Given the description of an element on the screen output the (x, y) to click on. 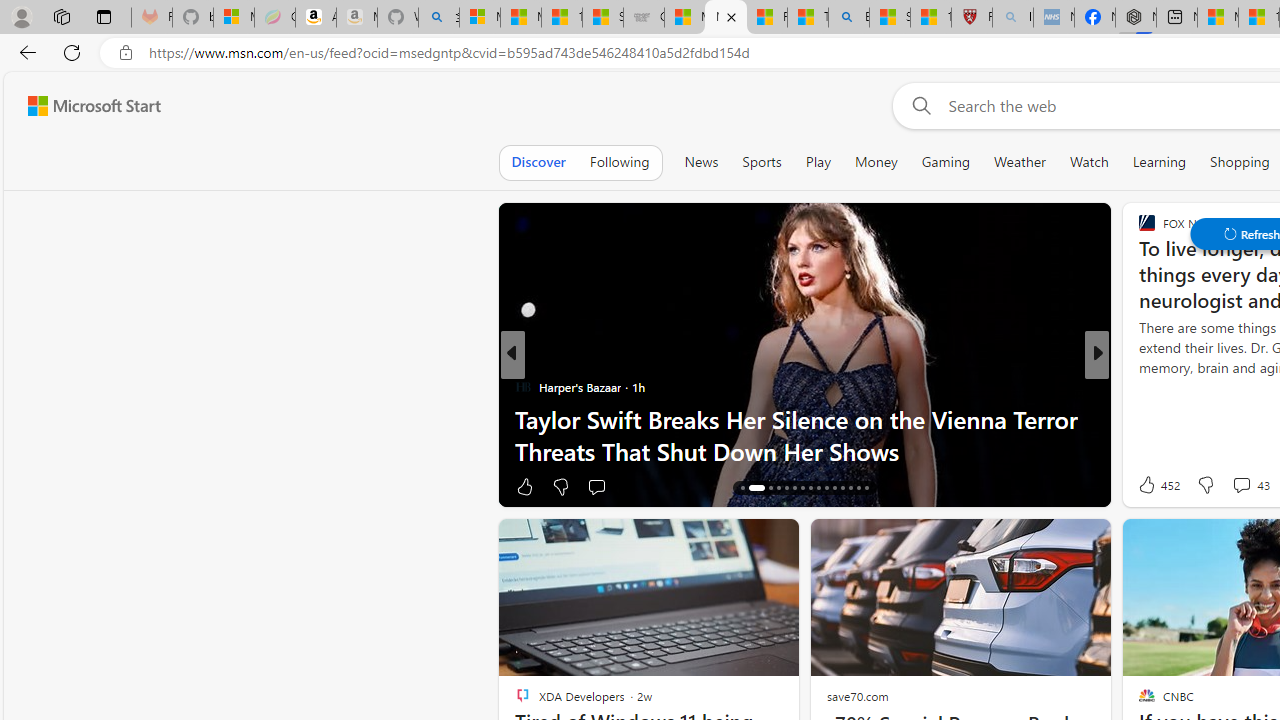
View comments 58 Comment (1229, 485)
CNET (1138, 386)
View comments 67 Comment (1234, 485)
AutomationID: tab-18 (765, 487)
Moneywise (1138, 386)
View comments 496 Comment (1228, 485)
AutomationID: tab-22 (801, 487)
AutomationID: tab-29 (857, 487)
Bing (849, 17)
